Given the description of an element on the screen output the (x, y) to click on. 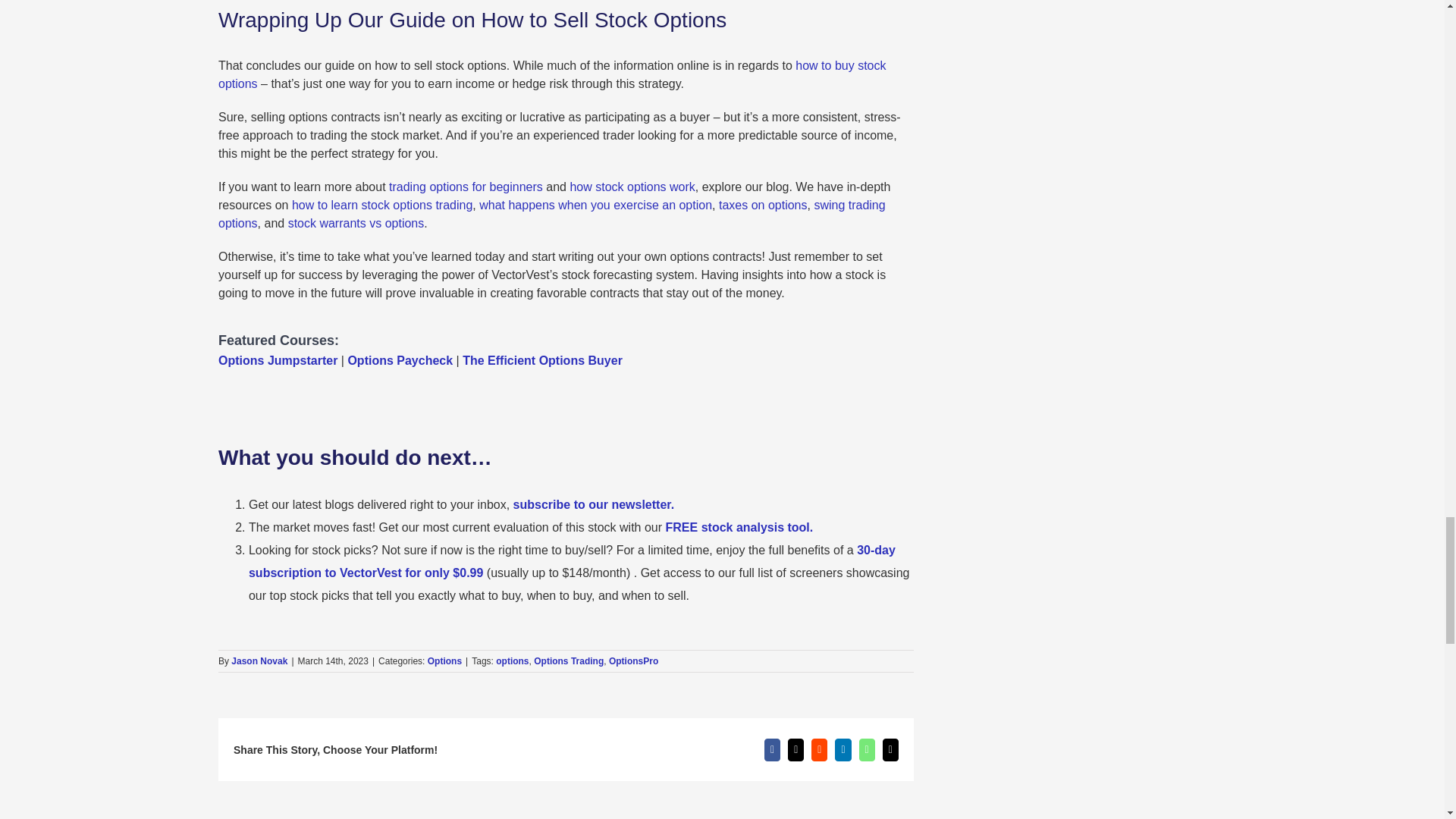
Posts by Jason Novak (258, 661)
VectorVest: Featured Courses - Options Paycheck (399, 359)
VectorVest: Featured Courses - The Efficient Options Buyer (543, 359)
VectorVest: Featured Courses - Options Jumpstarter (277, 359)
